Given the description of an element on the screen output the (x, y) to click on. 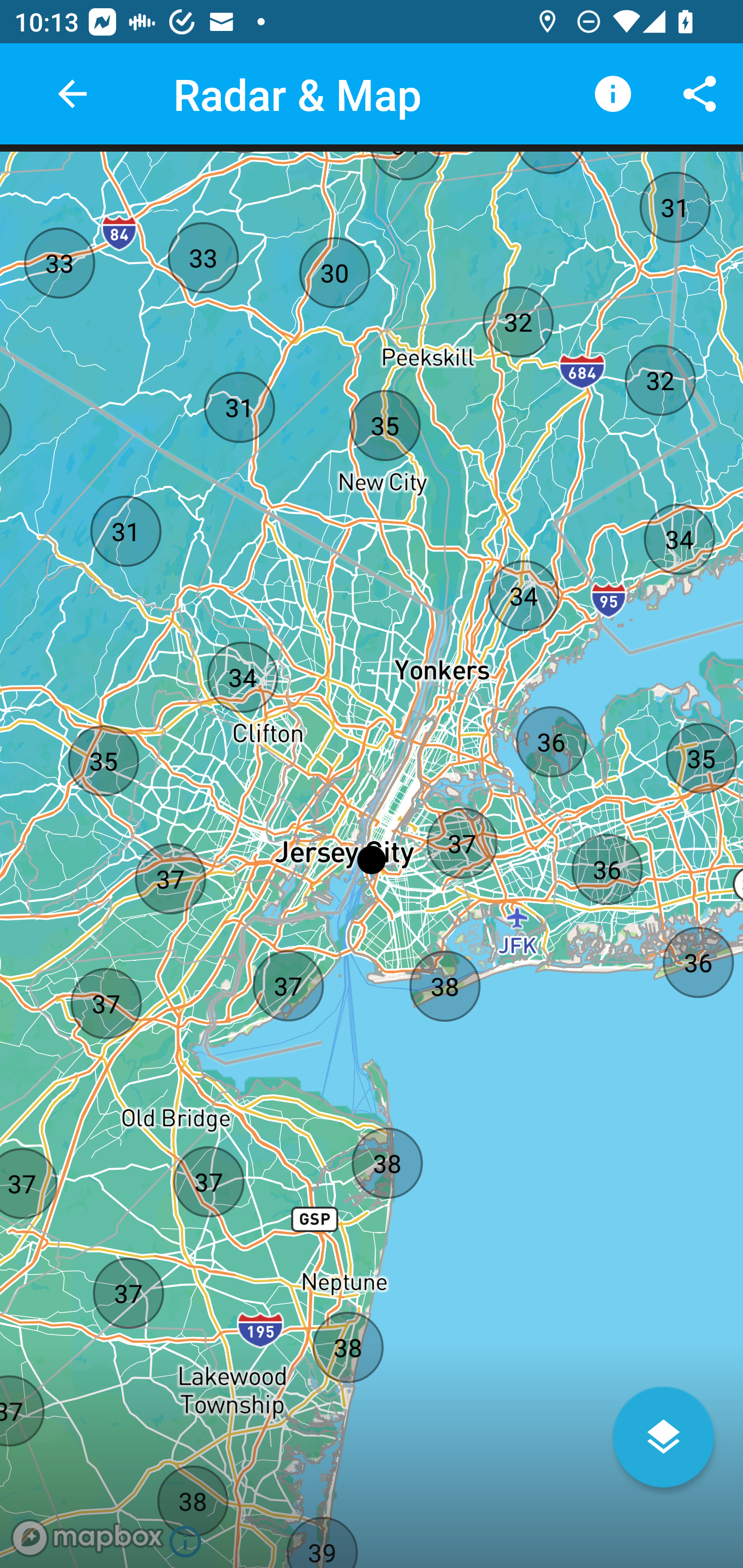
back (71, 93)
Legend (612, 93)
Share (699, 93)
Open layers menu. (663, 1437)
